Given the description of an element on the screen output the (x, y) to click on. 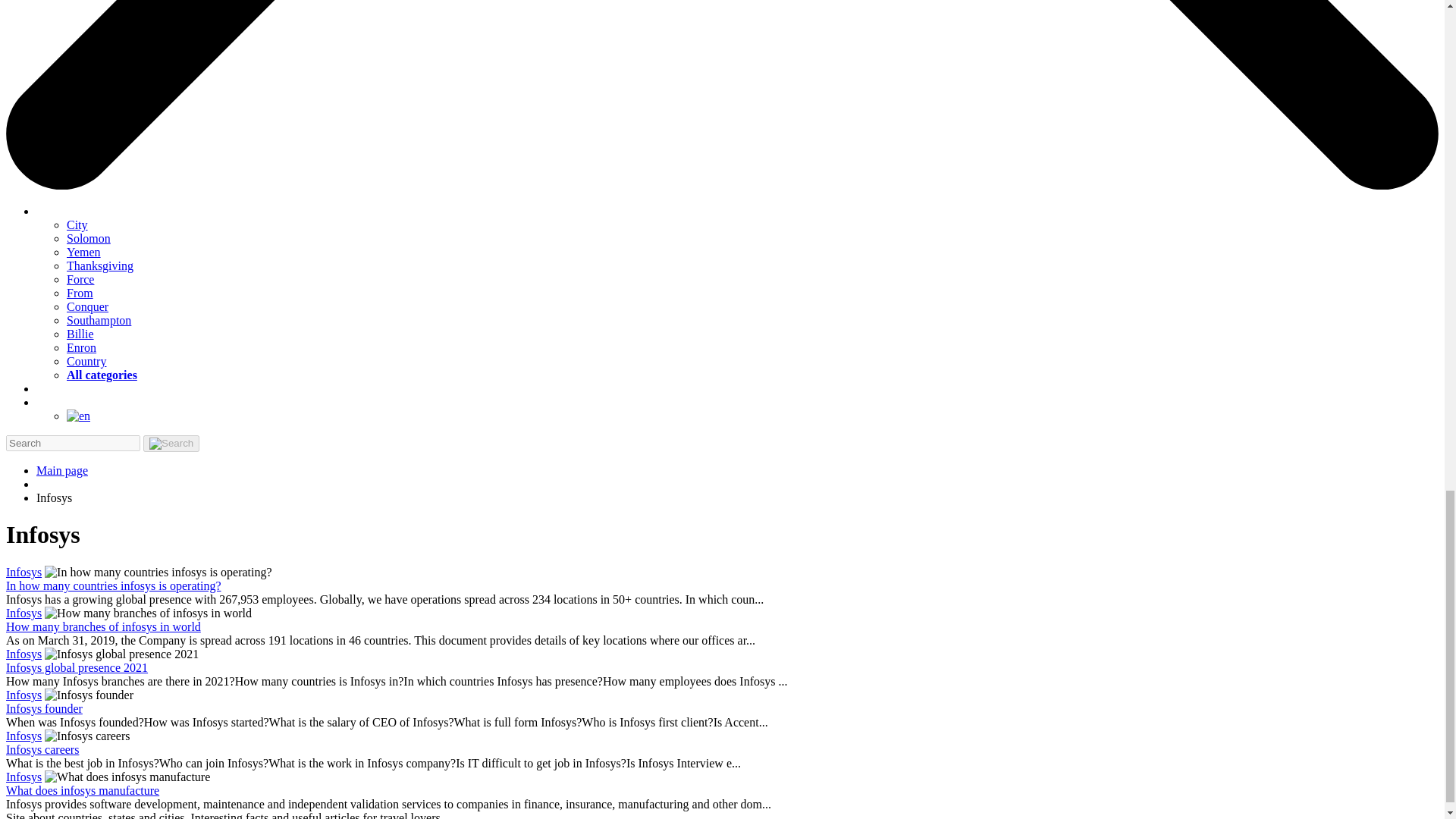
Infosys (23, 694)
Thanksgiving (99, 265)
Infosys founder (43, 707)
Billie (80, 333)
Enron (81, 347)
Conquer (86, 306)
Infosys (23, 571)
Yemen (83, 251)
City (76, 224)
Solomon (88, 237)
